Given the description of an element on the screen output the (x, y) to click on. 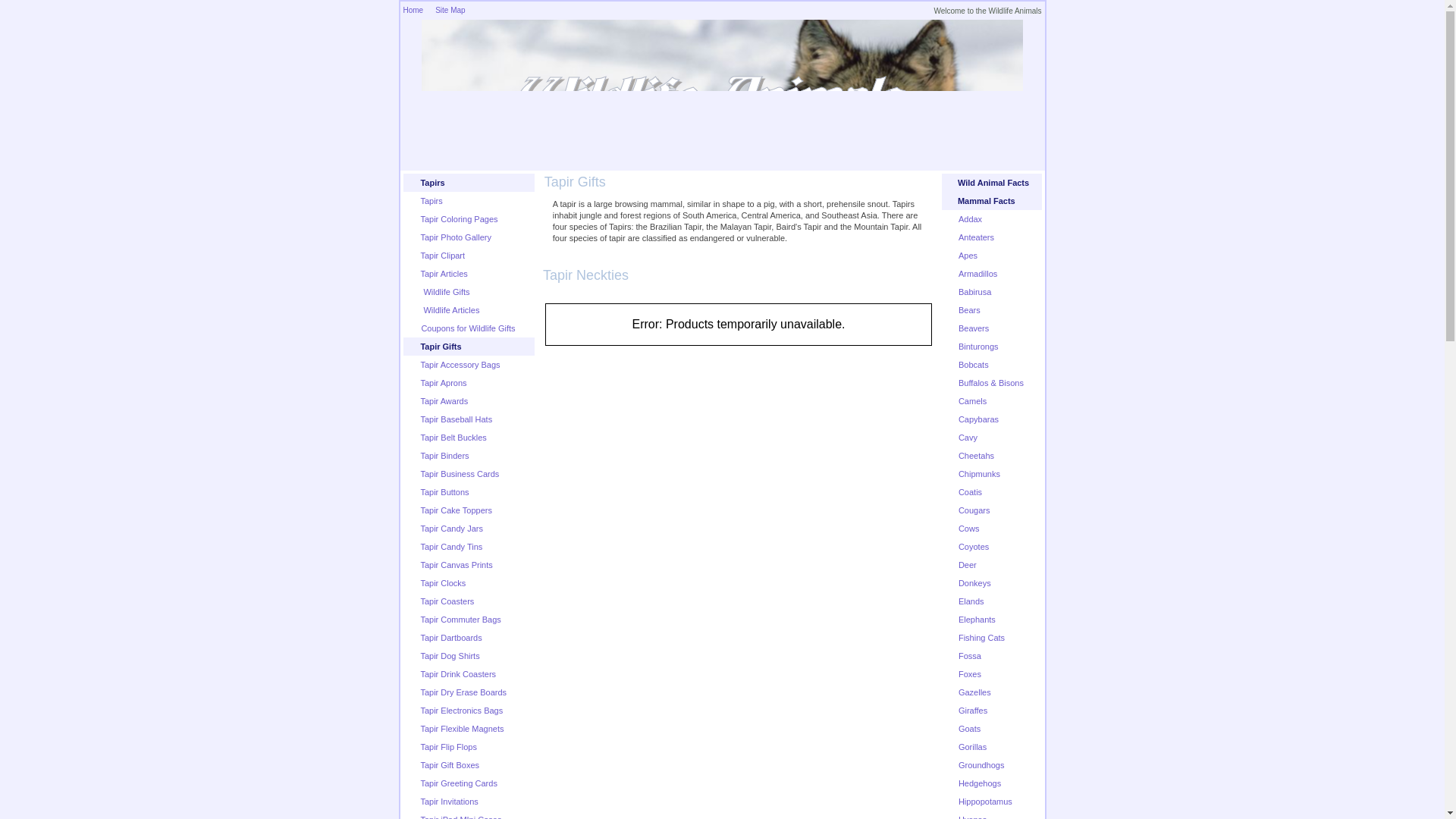
Tapirs (431, 200)
Tapir Canvas Prints (456, 564)
Tapir Flip Flops (448, 746)
Tapir Dog Shirts (449, 655)
Tapir Business Cards (459, 473)
Tapir Drink Coasters (458, 673)
Tapir Coasters (447, 601)
Tapir Cake Toppers (456, 510)
Tapir Dry Erase Boards (463, 691)
Tapir Dartboards (450, 637)
Wildlife Articles (449, 309)
Tapir Buttons (444, 491)
Home (413, 9)
Tapir Photo Gallery (456, 236)
Tapir Clocks (442, 583)
